Given the description of an element on the screen output the (x, y) to click on. 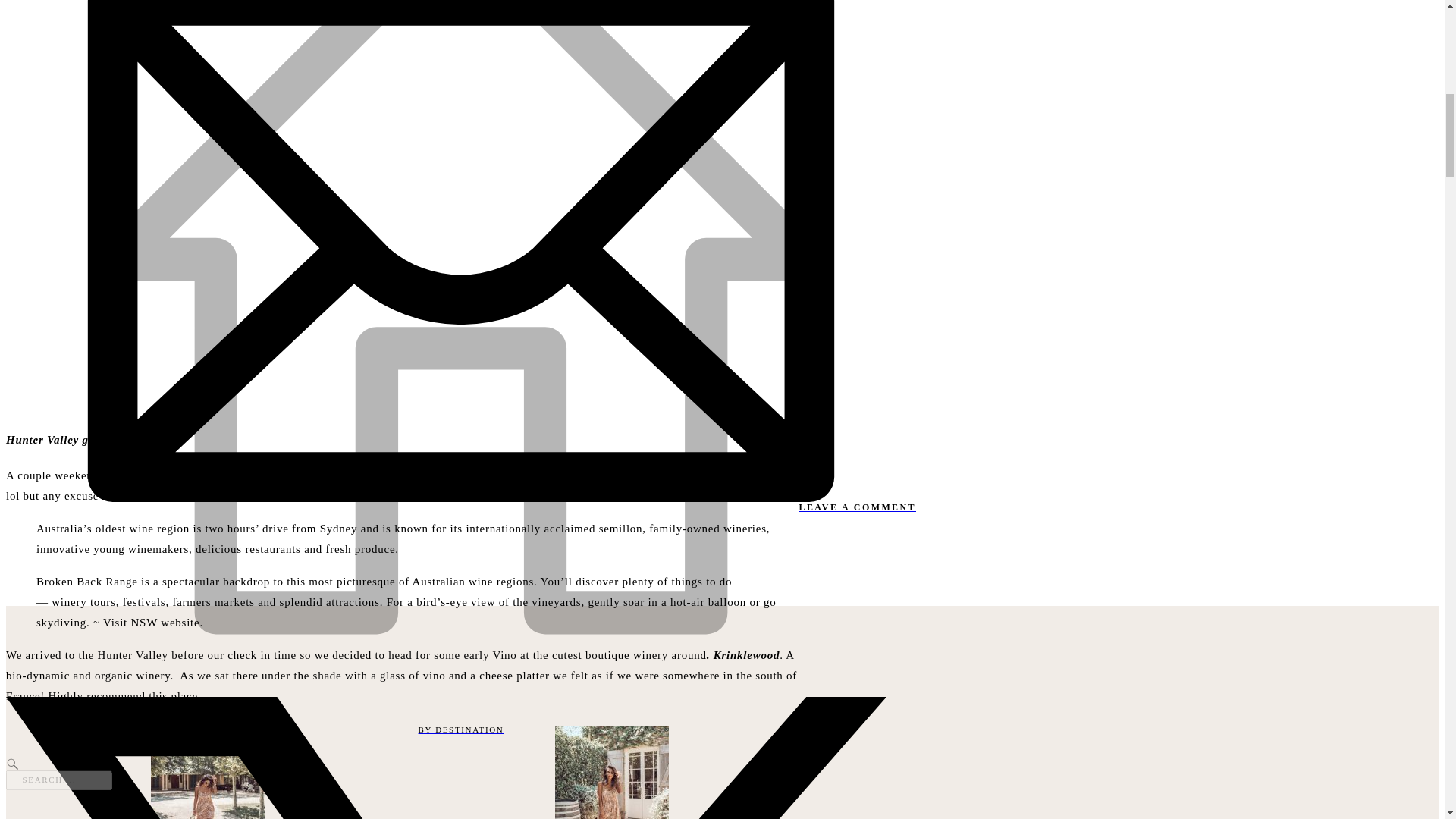
BY DESTINATION (460, 729)
